Given the description of an element on the screen output the (x, y) to click on. 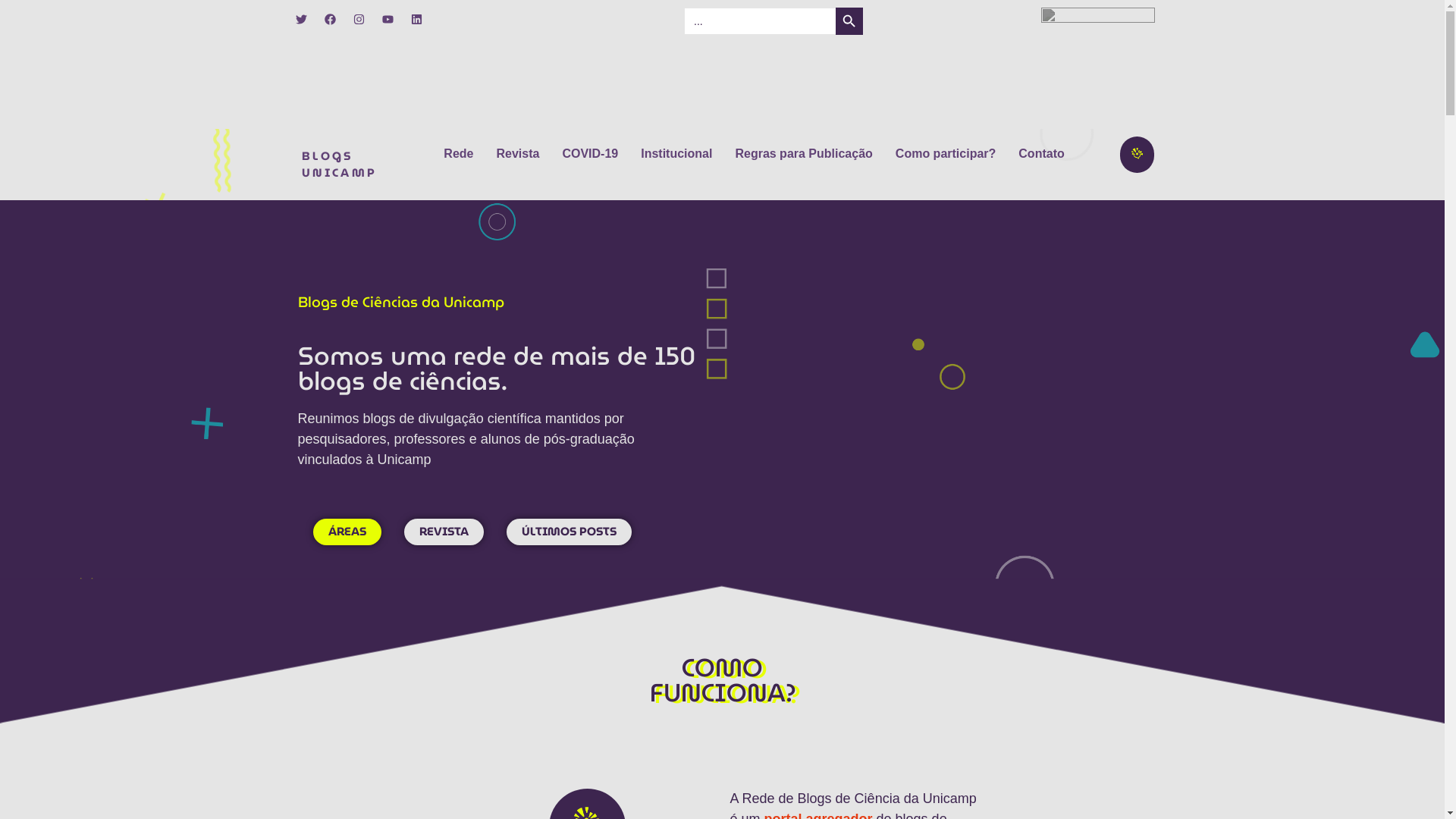
COVID-19 Element type: text (589, 153)
Rede Element type: text (458, 153)
Institucional Element type: text (676, 153)
BLOGS
UNICAMP Element type: text (338, 164)
Revista Element type: text (517, 153)
REVISTA Element type: text (443, 531)
Search Button Element type: text (848, 20)
Como participar? Element type: text (945, 153)
Contato Element type: text (1041, 153)
